Given the description of an element on the screen output the (x, y) to click on. 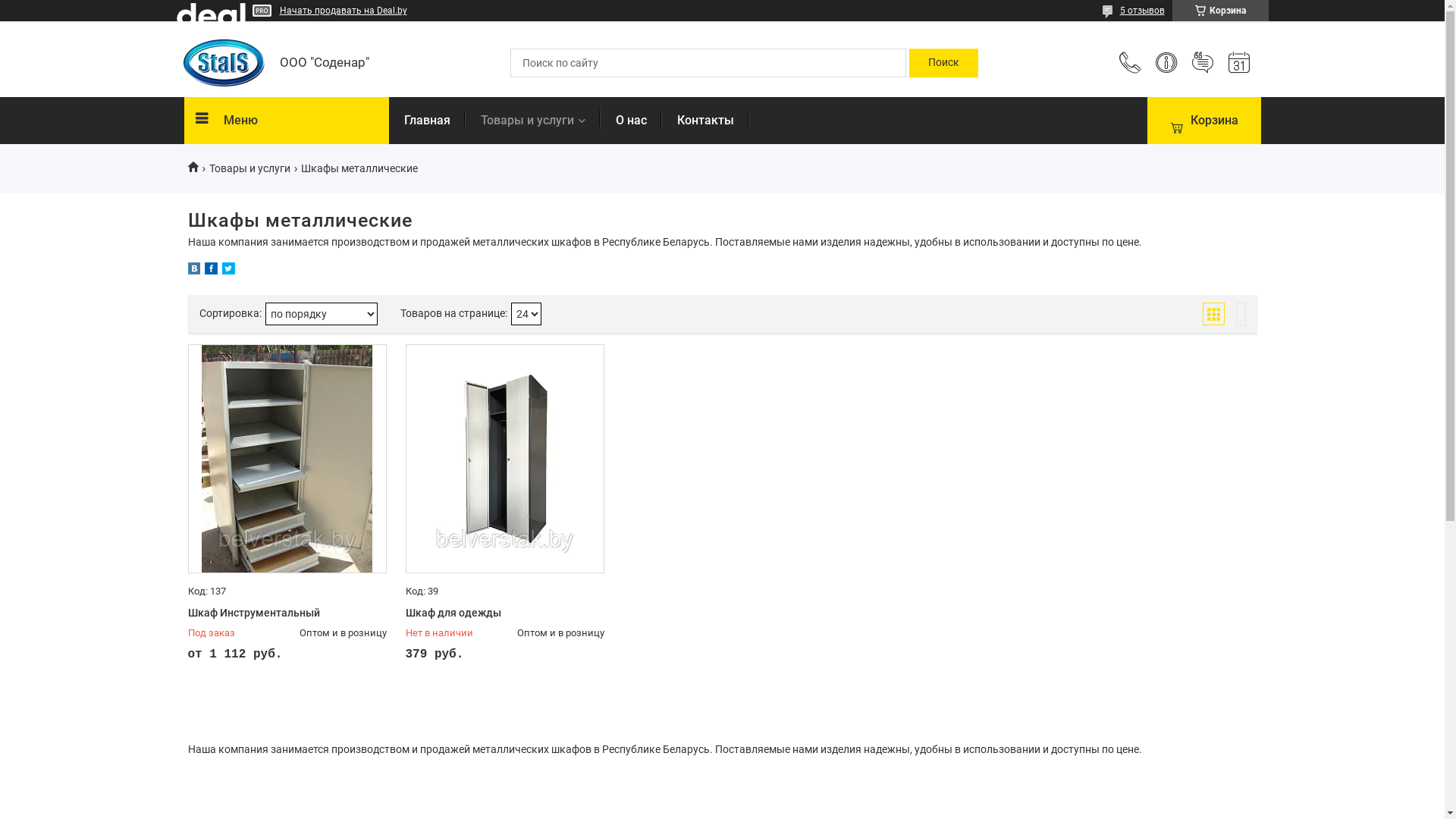
twitter Element type: hover (227, 270)
facebook Element type: hover (210, 270)
